Given the description of an element on the screen output the (x, y) to click on. 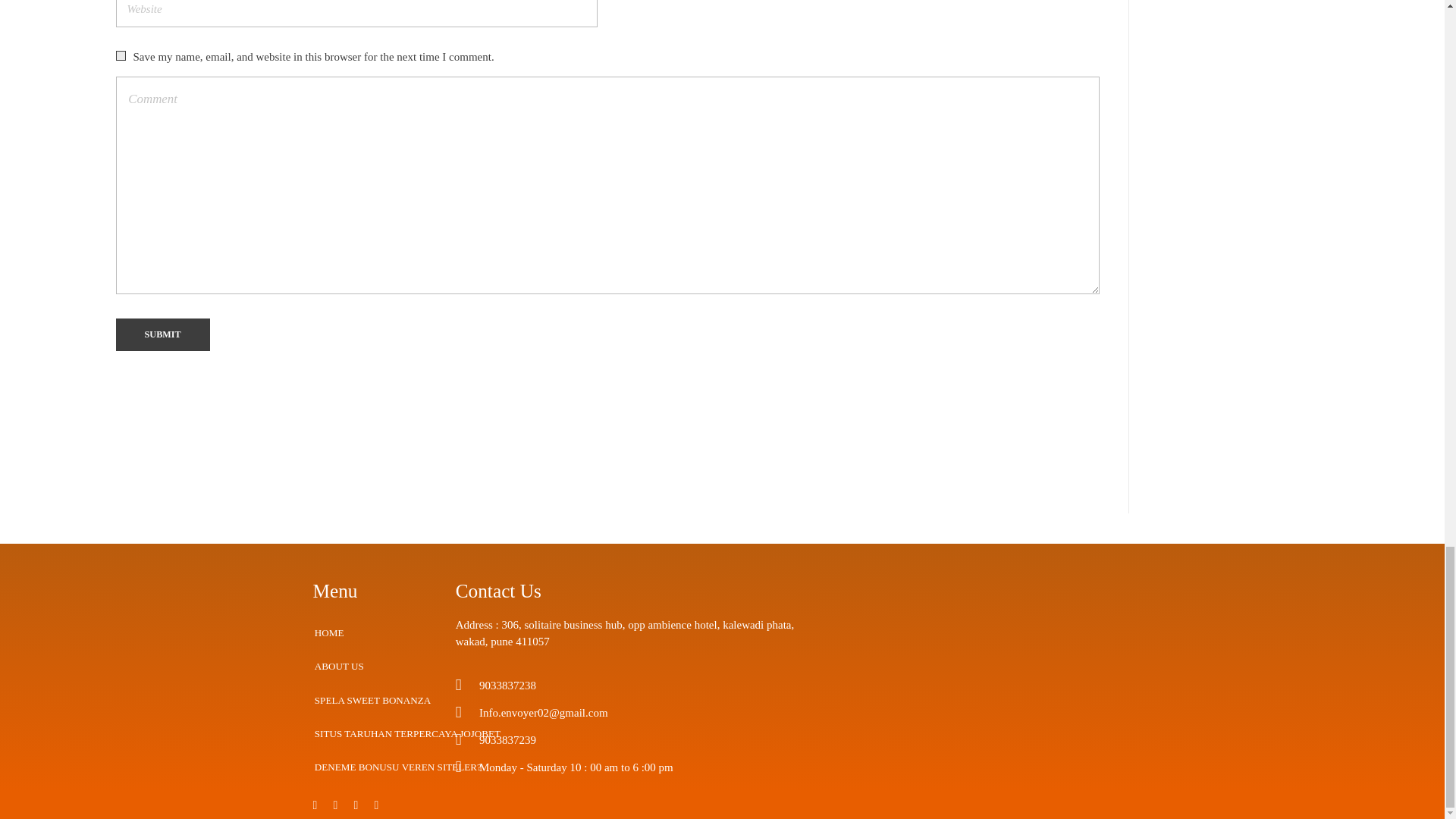
Submit (162, 334)
yes (120, 55)
Submit (162, 334)
